Given the description of an element on the screen output the (x, y) to click on. 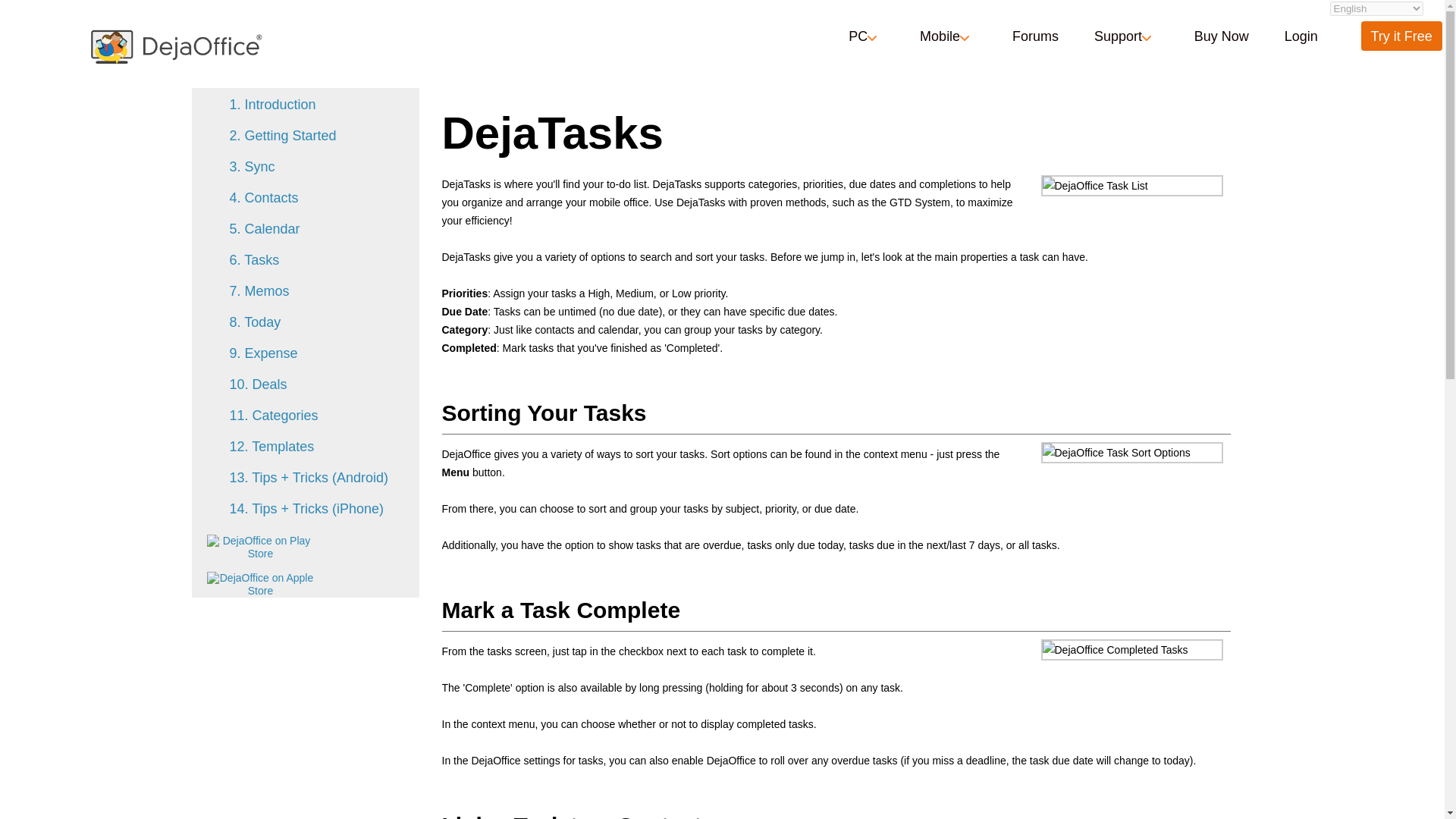
PC (866, 36)
Mobile (948, 36)
3. Sync (251, 166)
2. Getting Started (282, 135)
Forums (1034, 36)
Login (1300, 36)
Support (1126, 36)
Try it Free (1401, 35)
4. Contacts (263, 197)
1. Introduction (271, 104)
Buy Now (1221, 36)
5. Calendar (263, 228)
